Given the description of an element on the screen output the (x, y) to click on. 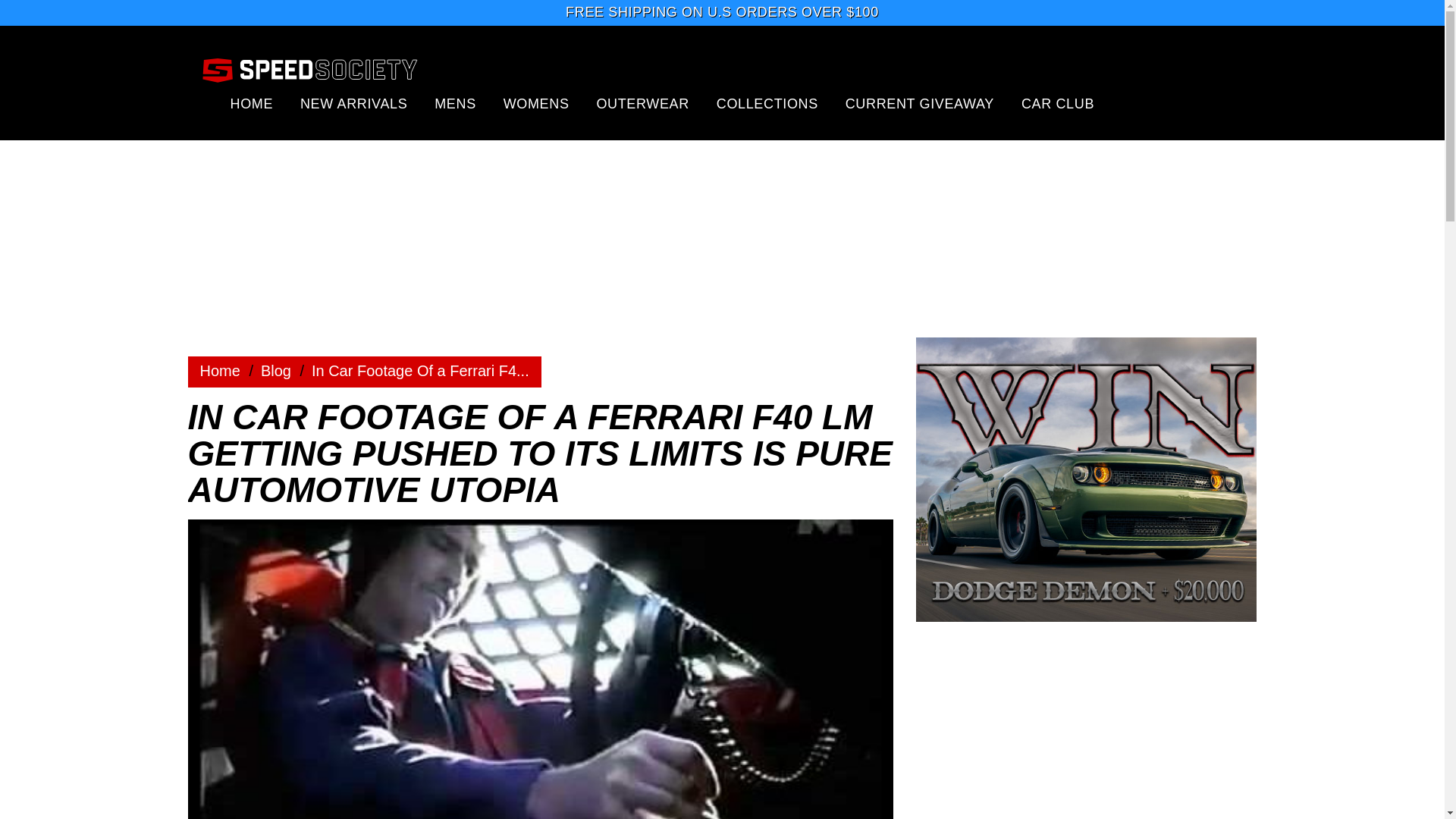
In Car Footage Of a Ferrari F4... (420, 370)
HOME (251, 103)
MENS (454, 103)
CAR CLUB (1058, 103)
Home (220, 370)
COLLECTIONS (767, 103)
NEW ARRIVALS (353, 103)
speed society logo (308, 69)
Home (220, 370)
Home (275, 370)
CURRENT GIVEAWAY (919, 103)
WOMENS (536, 103)
OUTERWEAR (641, 103)
Blog (275, 370)
